Given the description of an element on the screen output the (x, y) to click on. 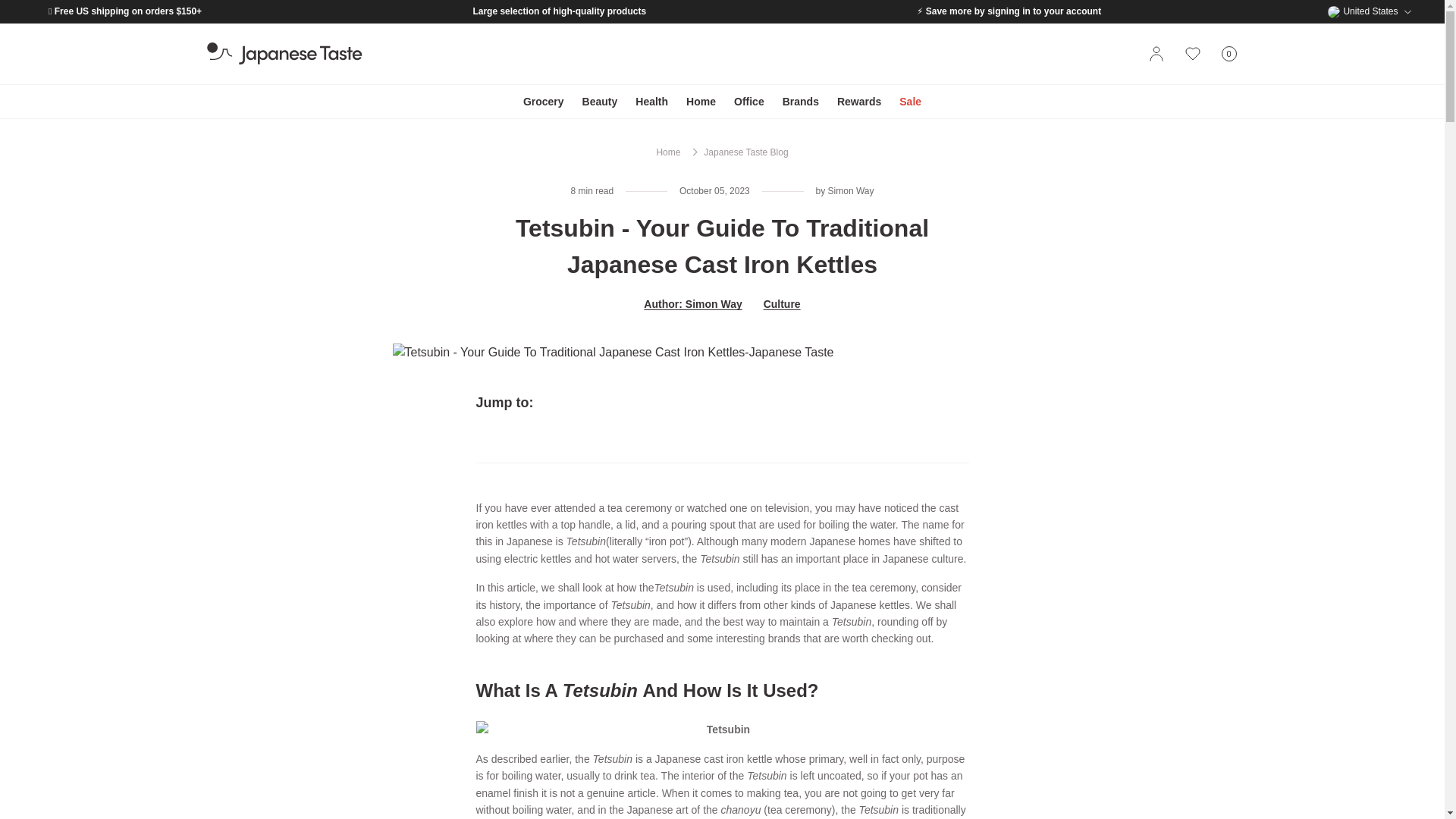
United States (1369, 11)
Japanese Taste (1228, 54)
Grocery (283, 53)
